Given the description of an element on the screen output the (x, y) to click on. 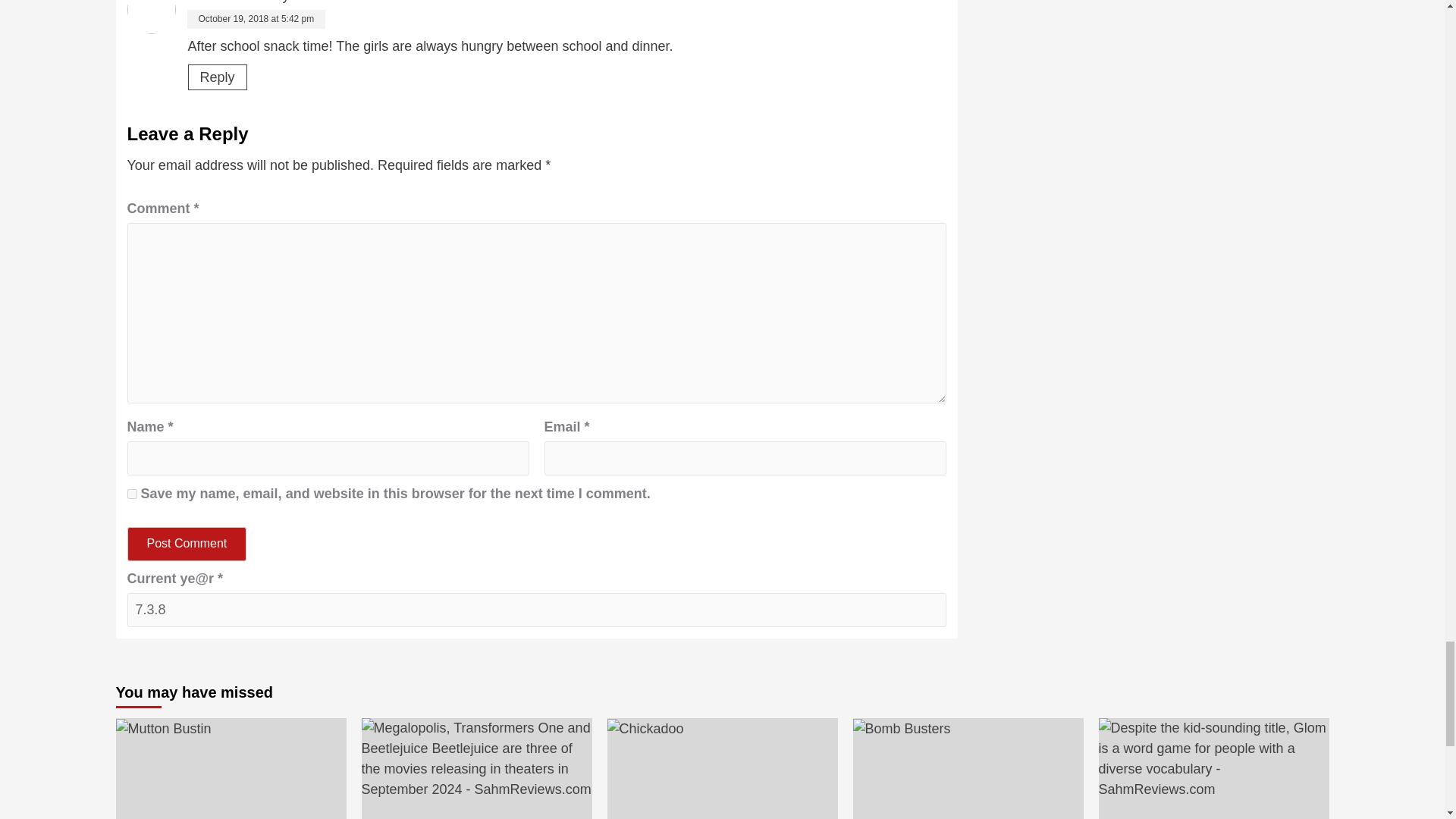
7.3.8 (537, 609)
Post Comment (187, 544)
yes (132, 493)
